Given the description of an element on the screen output the (x, y) to click on. 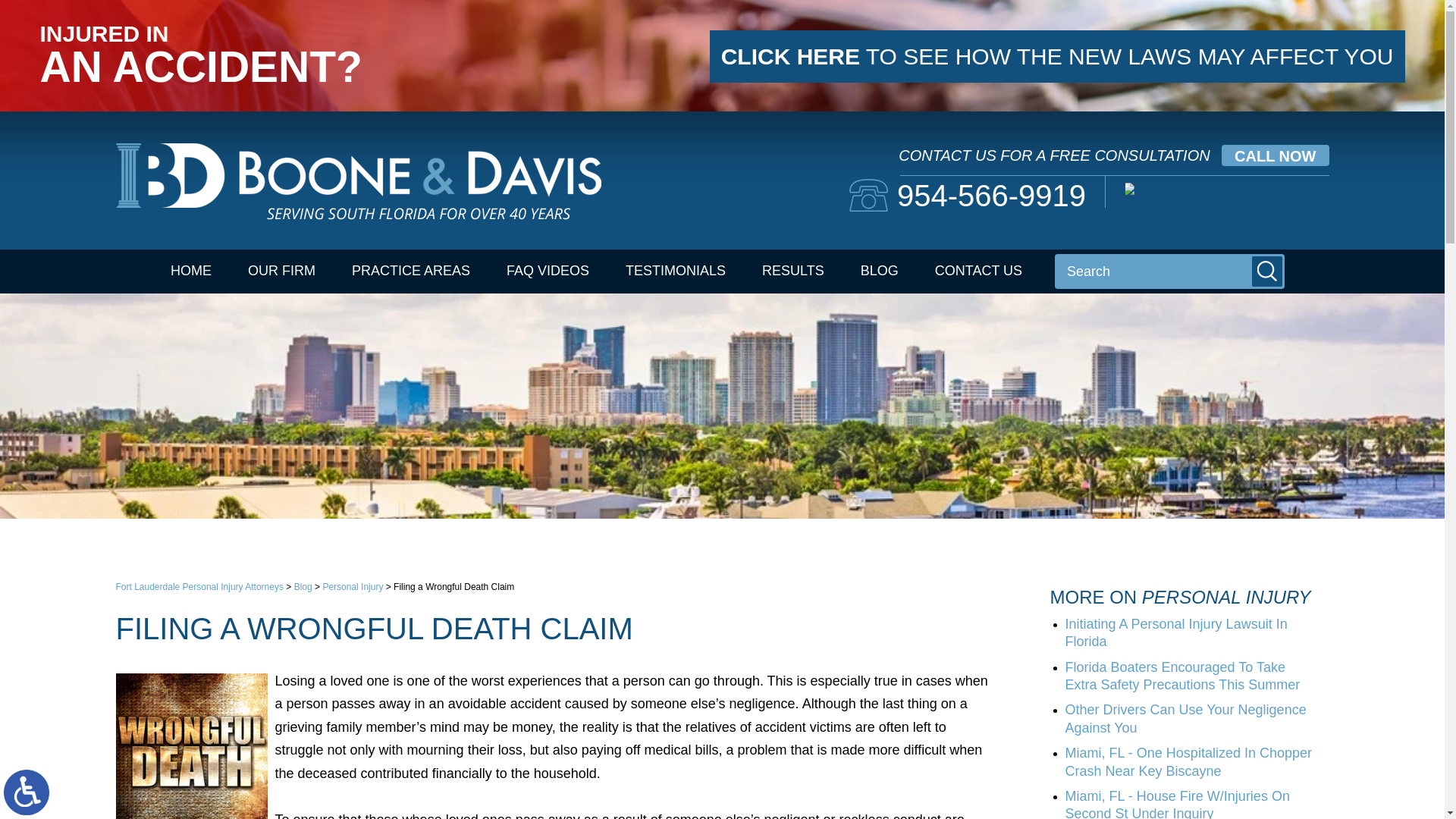
WrongfulD2 (190, 746)
Submit (1267, 271)
HOME (191, 271)
PRACTICE AREAS (410, 271)
Switch to ADA Accessible Theme (26, 791)
CALL NOW (1274, 155)
CLICK HERE TO SEE HOW THE NEW LAWS MAY AFFECT YOU (1057, 56)
OUR FIRM (281, 271)
954-566-9919 (967, 195)
